Given the description of an element on the screen output the (x, y) to click on. 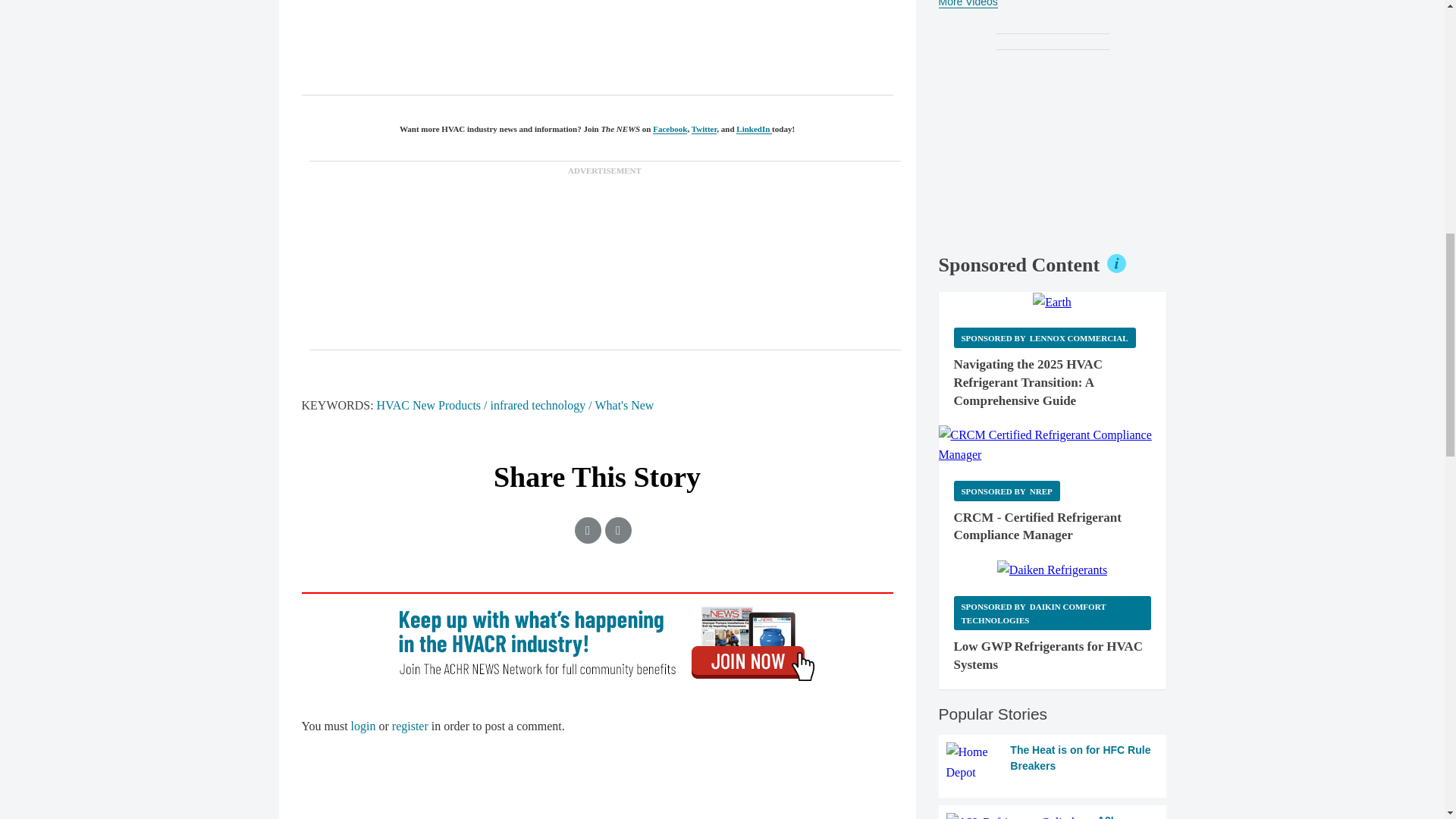
Earth (1051, 302)
A2L Refrigerant Cylinders in Hot Trucks (1052, 816)
CRCM Certified Refrigerant Compliance Manager (1052, 445)
Sponsored by Lennox Commercial (1044, 337)
The Heat is on for HFC Rule Breakers (1052, 762)
Daiken Refrigerants (1051, 569)
Sponsored by NREP (1006, 490)
Sponsored by Daikin Comfort Technologies (1052, 612)
